Given the description of an element on the screen output the (x, y) to click on. 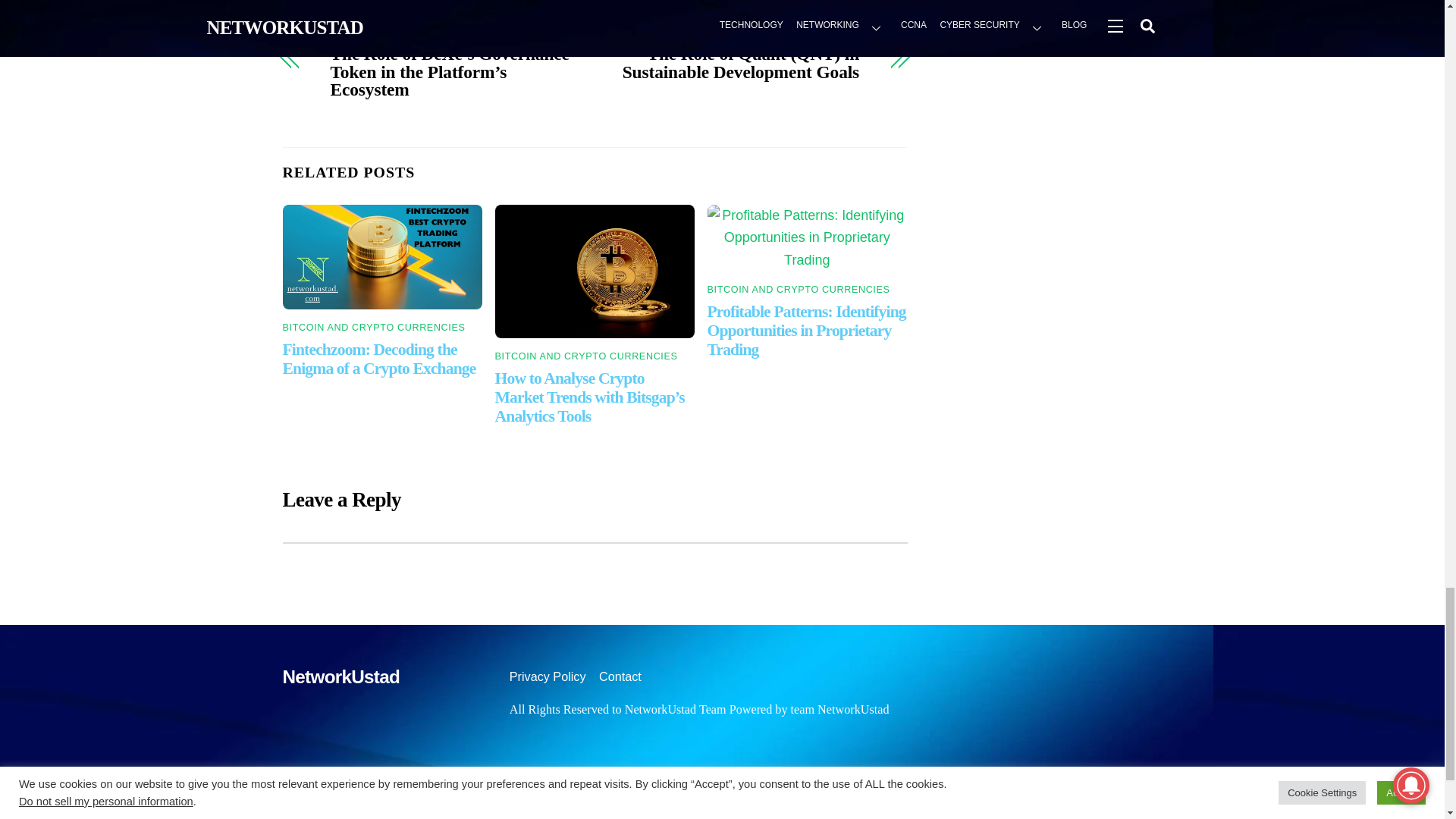
BITCOIN AND CRYPTO CURRENCIES (373, 327)
BITCOIN AND CRYPTO CURRENCIES (586, 356)
BITCOIN AND CRYPTO CURRENCIES (798, 289)
Fintechzoom: Decoding the Enigma of a Crypto Exchange (379, 358)
